Given the description of an element on the screen output the (x, y) to click on. 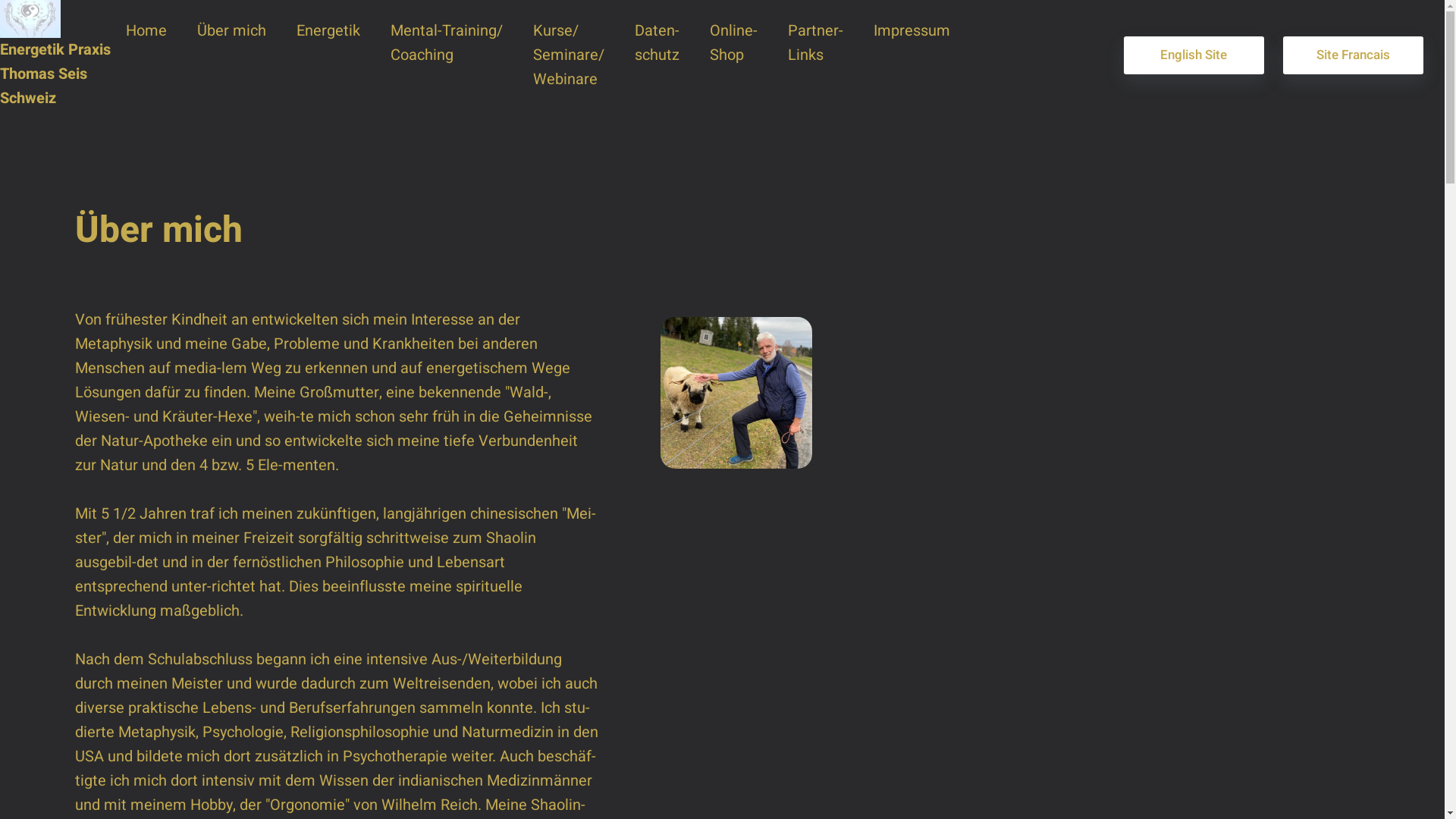
Energetik Praxis
Thomas Seis
Schweiz Element type: text (55, 89)
Partner-
Links Element type: text (815, 42)
Site Francais Element type: text (1353, 55)
Impressum Element type: text (911, 30)
Energetik Element type: text (328, 30)
Home Element type: text (145, 30)
Mental-Training/
Coaching Element type: text (446, 42)
English Site Element type: text (1193, 55)
Daten-
schutz Element type: text (656, 42)
Online-
Shop Element type: text (733, 42)
Kurse/
Seminare/
Webinare Element type: text (568, 54)
